Given the description of an element on the screen output the (x, y) to click on. 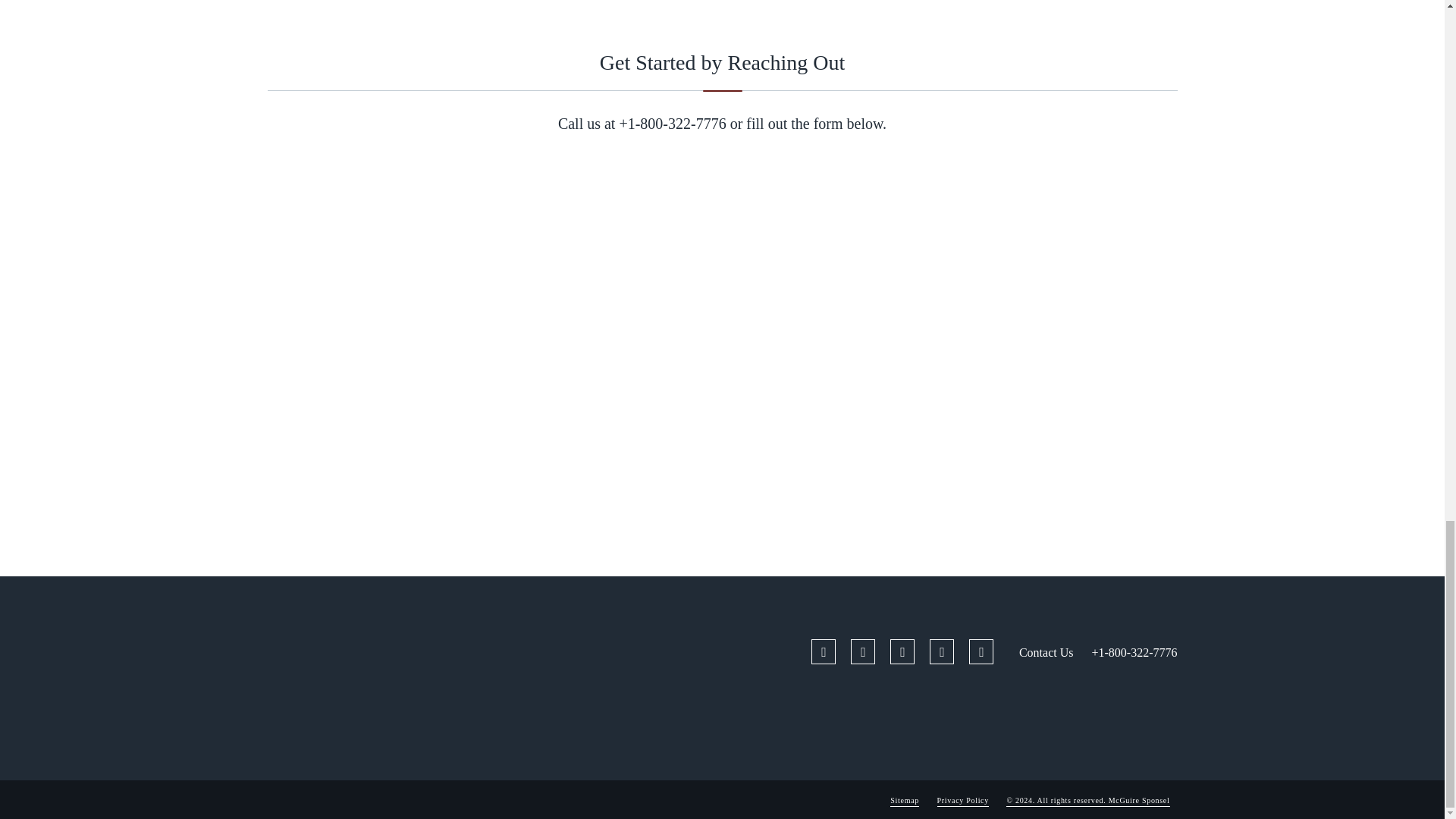
Twitter (862, 651)
Facebook (822, 651)
Instagram (941, 651)
YouTube (980, 651)
Call Us (671, 123)
LinkedIn (901, 651)
